Given the description of an element on the screen output the (x, y) to click on. 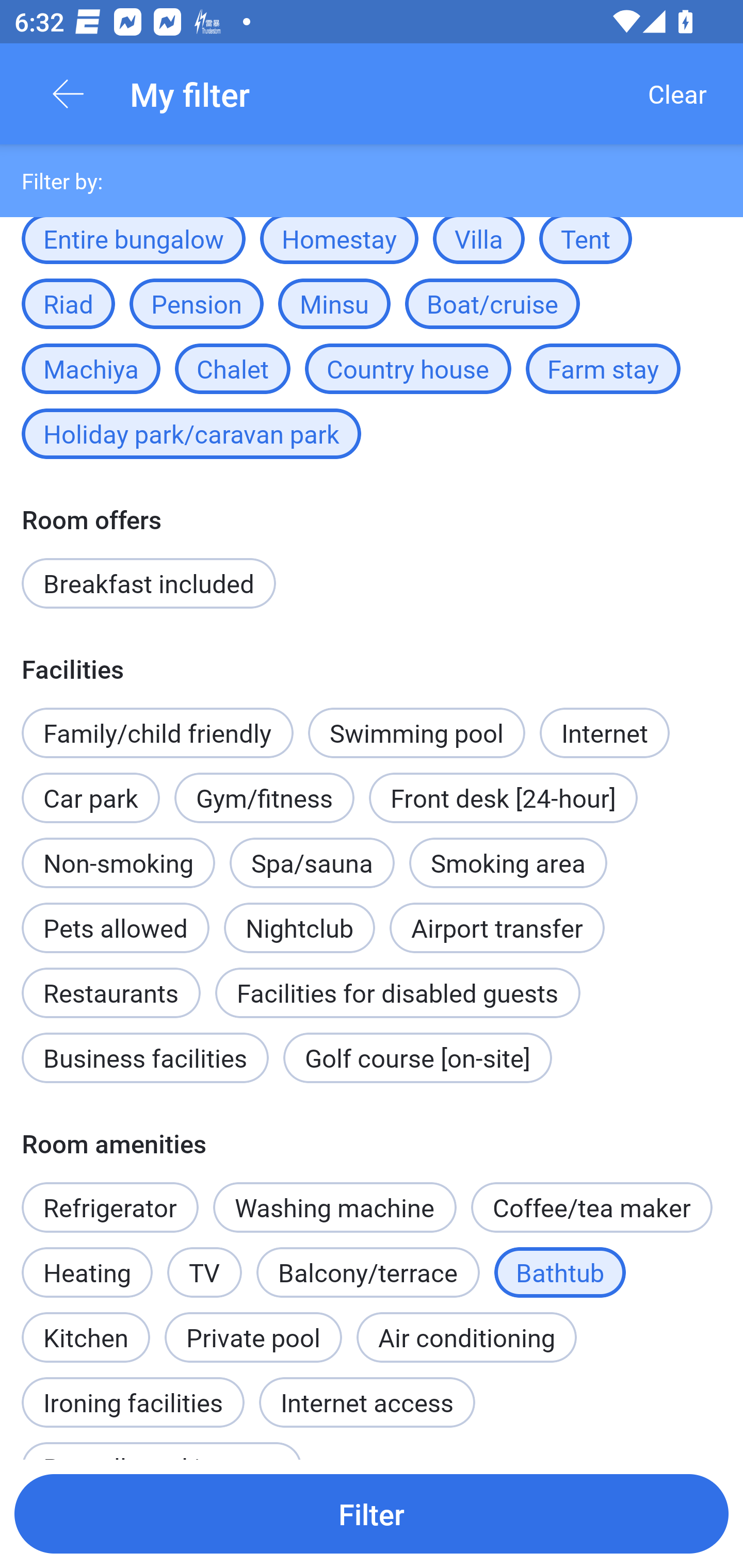
Clear (676, 93)
Breakfast included (148, 583)
Family/child friendly (157, 732)
Swimming pool (416, 732)
Internet (604, 732)
Car park (90, 787)
Gym/fitness (264, 798)
Front desk [24-hour] (503, 798)
Non-smoking (118, 863)
Spa/sauna (311, 863)
Smoking area (508, 863)
Pets allowed (115, 927)
Nightclub (299, 917)
Airport transfer (496, 927)
Restaurants (110, 982)
Facilities for disabled guests (397, 993)
Business facilities (144, 1057)
Golf course [on-site] (417, 1057)
Refrigerator (109, 1207)
Washing machine (334, 1207)
Coffee/tea maker (591, 1207)
Heating (87, 1272)
TV (204, 1272)
Balcony/terrace (367, 1272)
Kitchen (85, 1326)
Private pool (252, 1337)
Air conditioning (466, 1337)
Ironing facilities (132, 1391)
Internet access (367, 1402)
Filter (371, 1513)
